Given the description of an element on the screen output the (x, y) to click on. 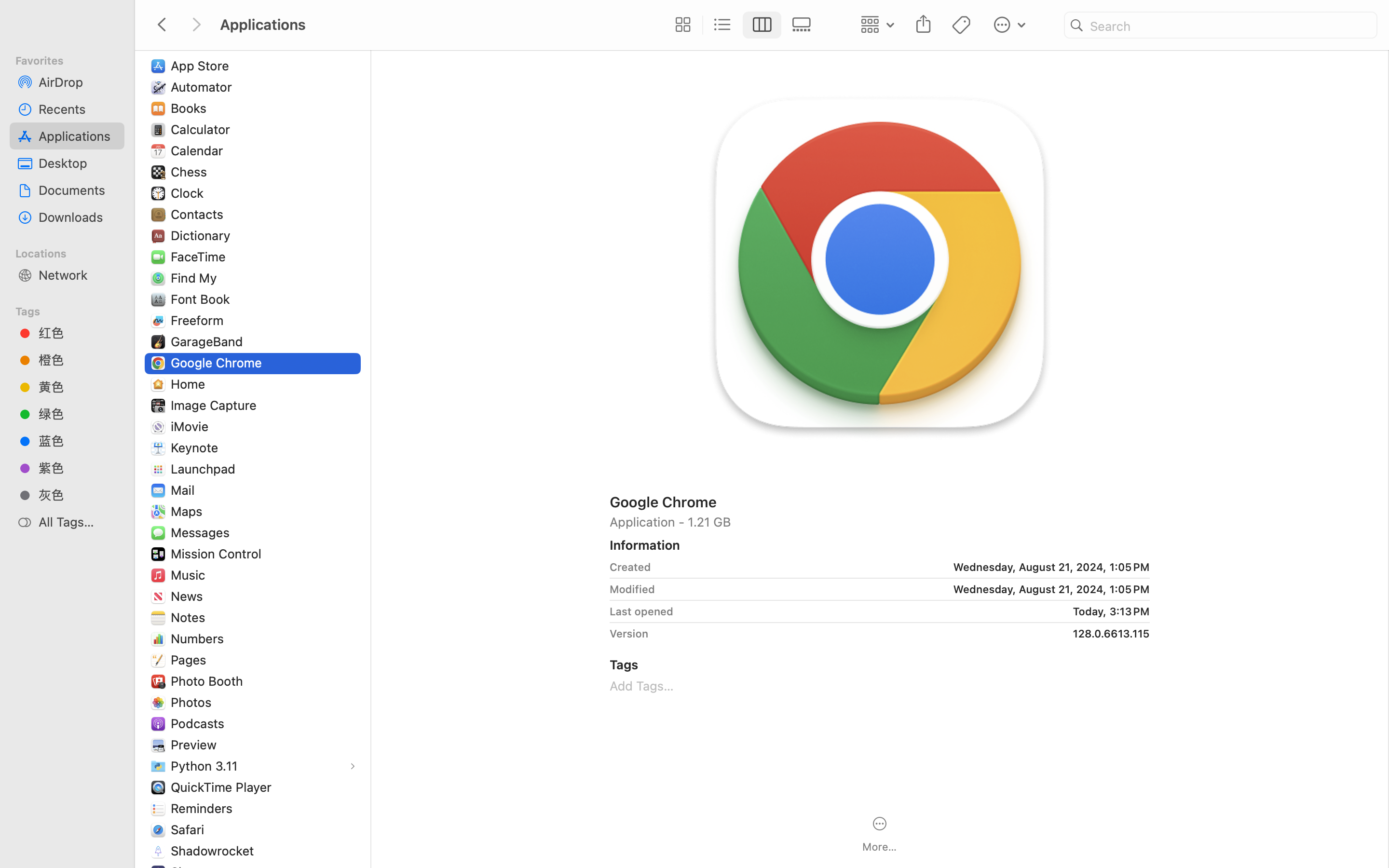
News Element type: AXTextField (188, 595)
Books Element type: AXTextField (190, 107)
AirDrop Element type: AXStaticText (77, 81)
Google Chrome Element type: AXTextField (218, 362)
蓝色 Element type: AXStaticText (77, 440)
